Given the description of an element on the screen output the (x, y) to click on. 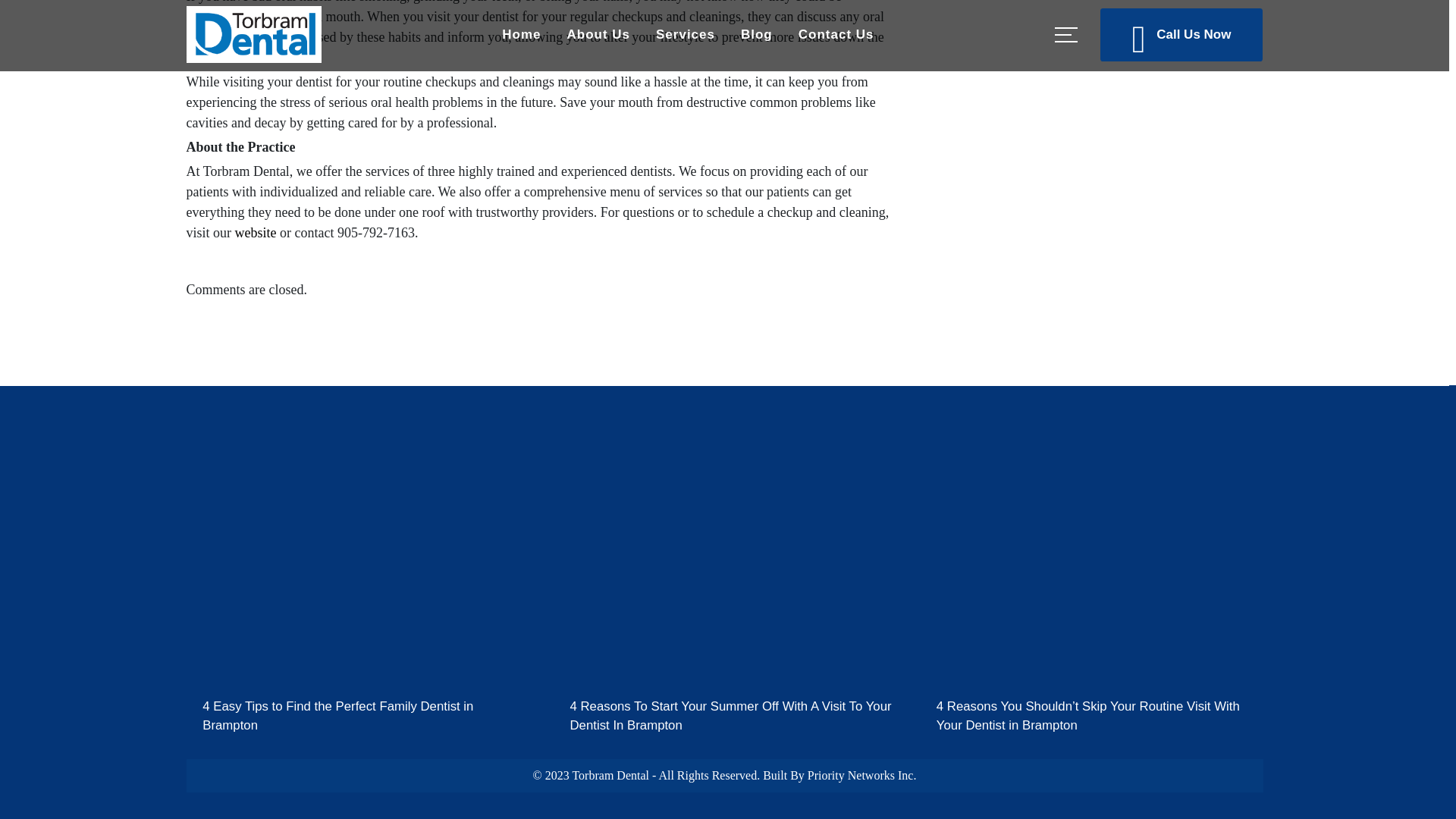
website (255, 232)
